Given the description of an element on the screen output the (x, y) to click on. 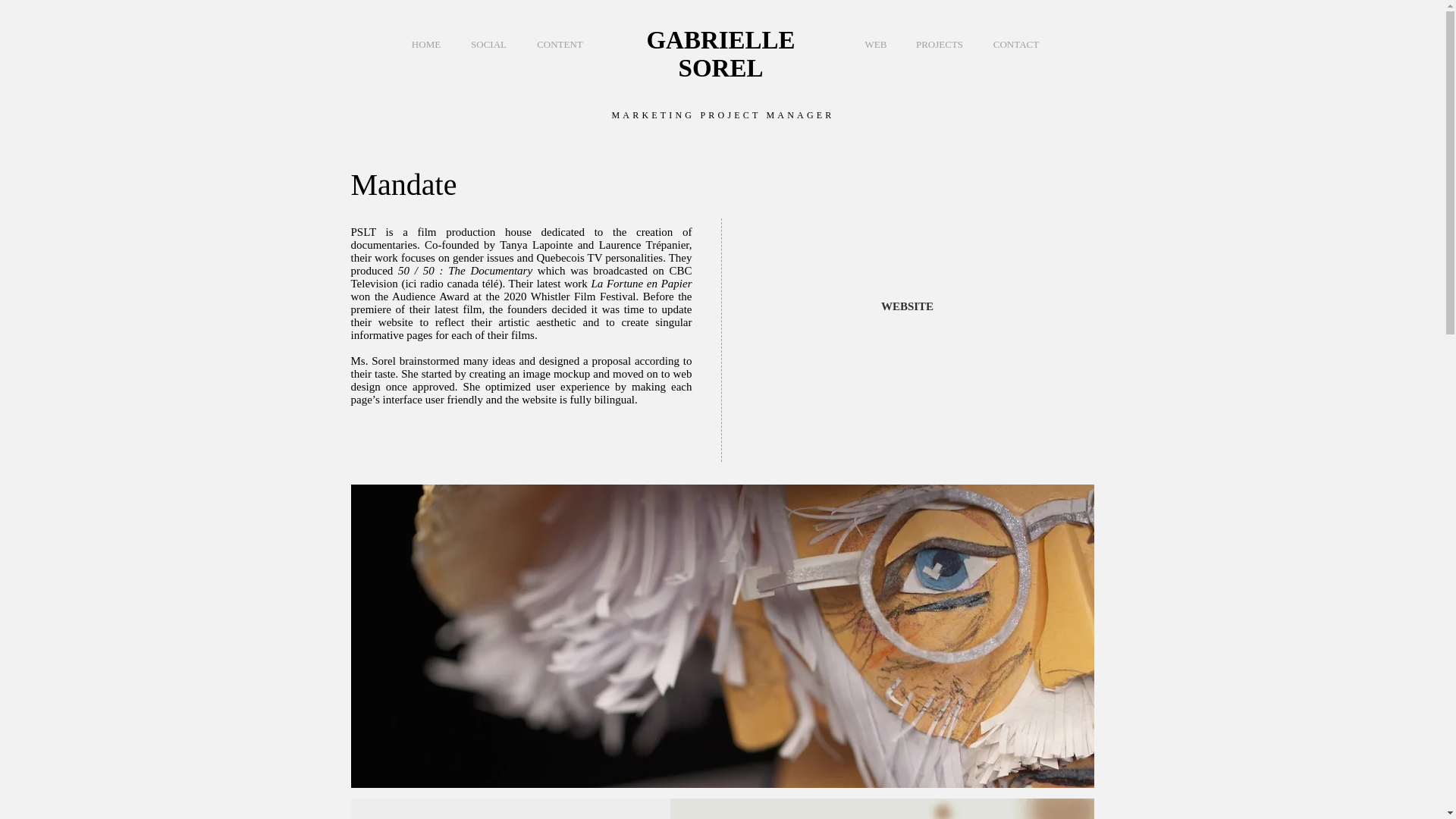
HOME (425, 44)
WEB (874, 44)
WEBSITE (906, 306)
PROJECTS (939, 44)
GABRIELLE SOREL (720, 53)
CONTENT (559, 44)
CONTACT (1015, 44)
SOCIAL (489, 44)
MARKETING PROJECT MANAGER (722, 114)
